Given the description of an element on the screen output the (x, y) to click on. 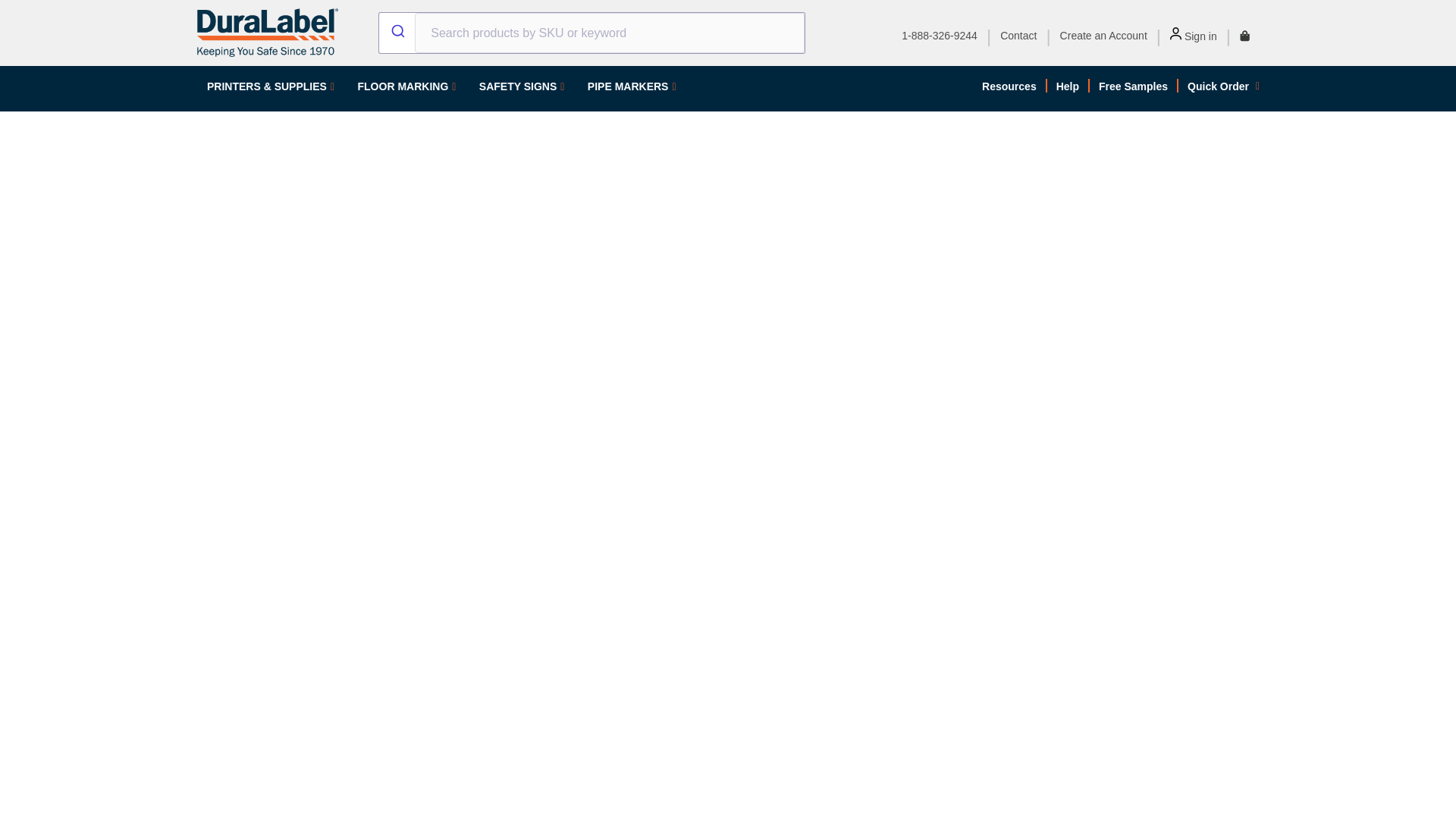
Contact (1018, 35)
Create an Account (1103, 35)
Sign in (1193, 36)
Submit (396, 32)
1-888-326-9244 (938, 35)
